Given the description of an element on the screen output the (x, y) to click on. 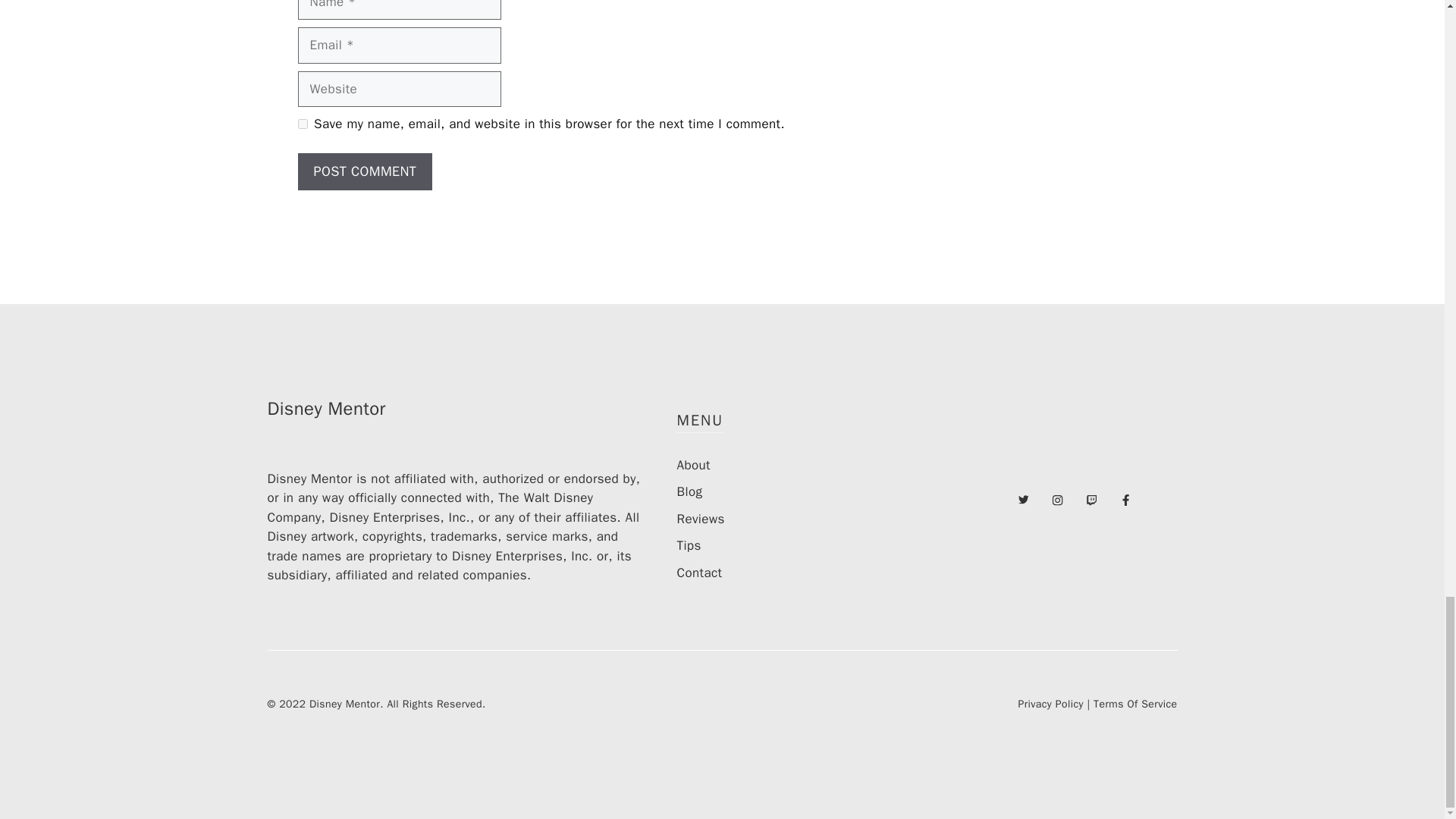
Contact (699, 572)
Post Comment (364, 171)
Terms Of Service (1134, 703)
Privacy Policy (1050, 703)
Reviews (700, 519)
Blog (689, 491)
Post Comment (364, 171)
Tips (688, 545)
About (693, 465)
yes (302, 123)
